Given the description of an element on the screen output the (x, y) to click on. 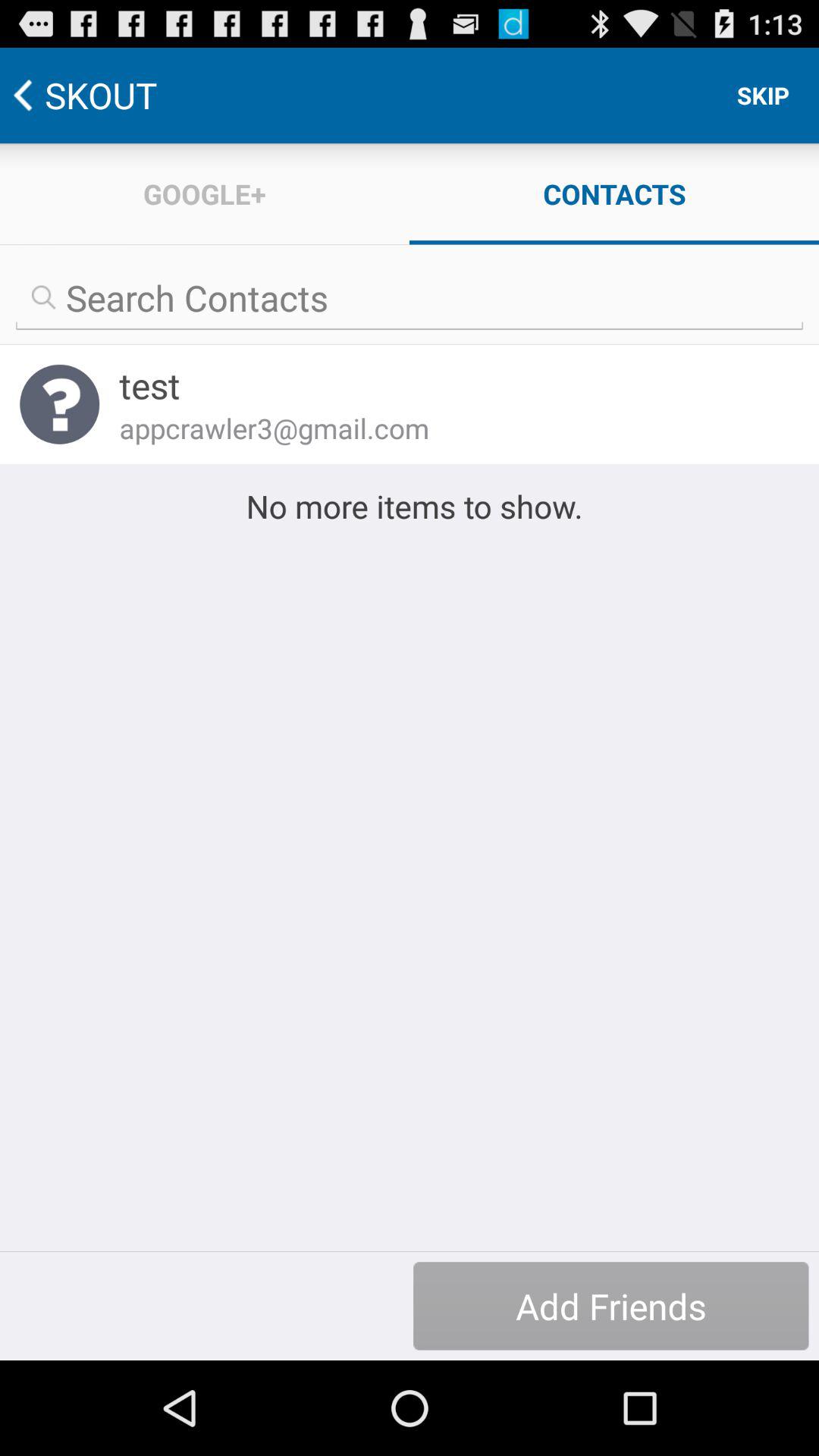
open google+ item (204, 193)
